Given the description of an element on the screen output the (x, y) to click on. 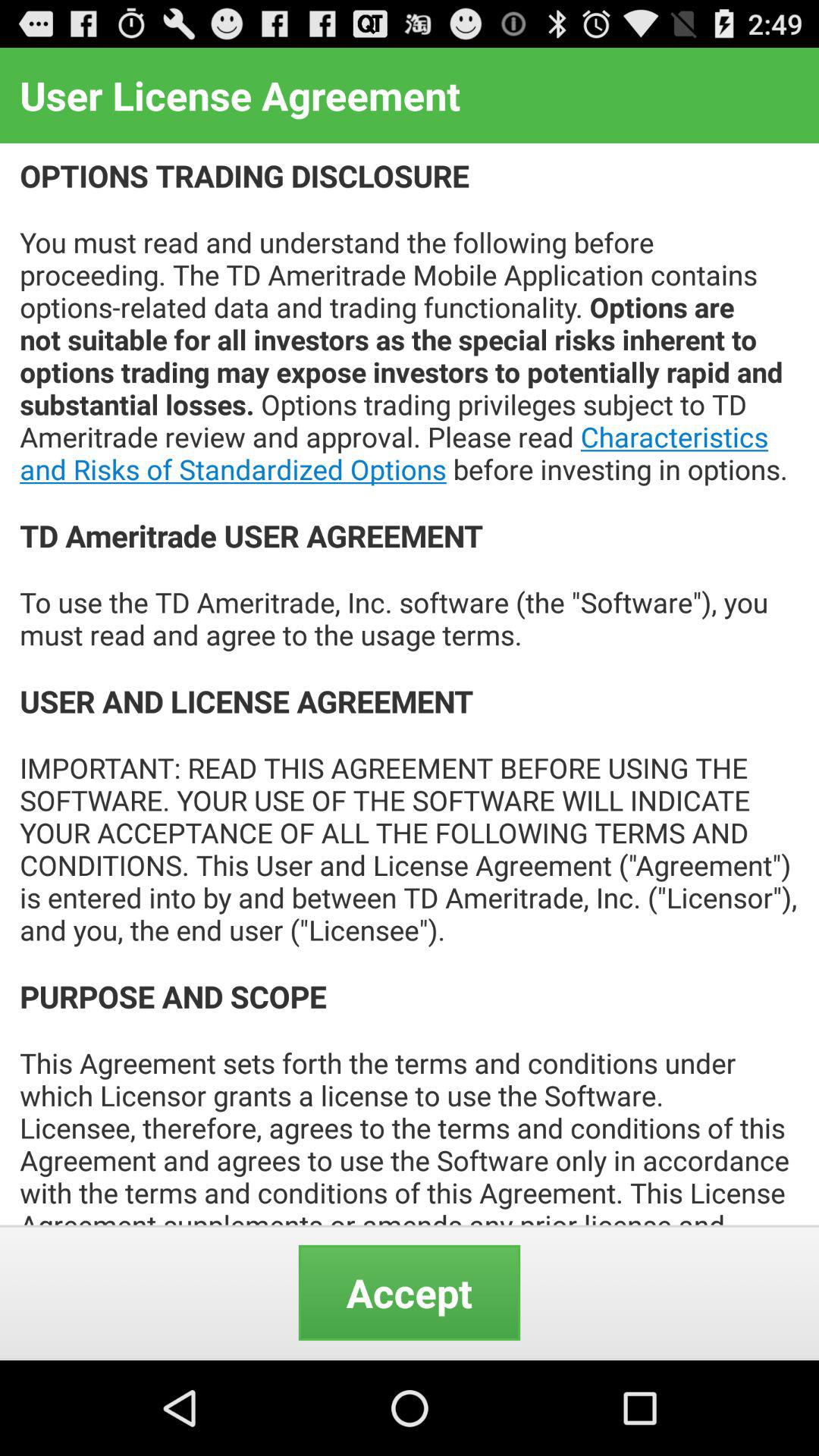
press the item at the center (409, 684)
